Given the description of an element on the screen output the (x, y) to click on. 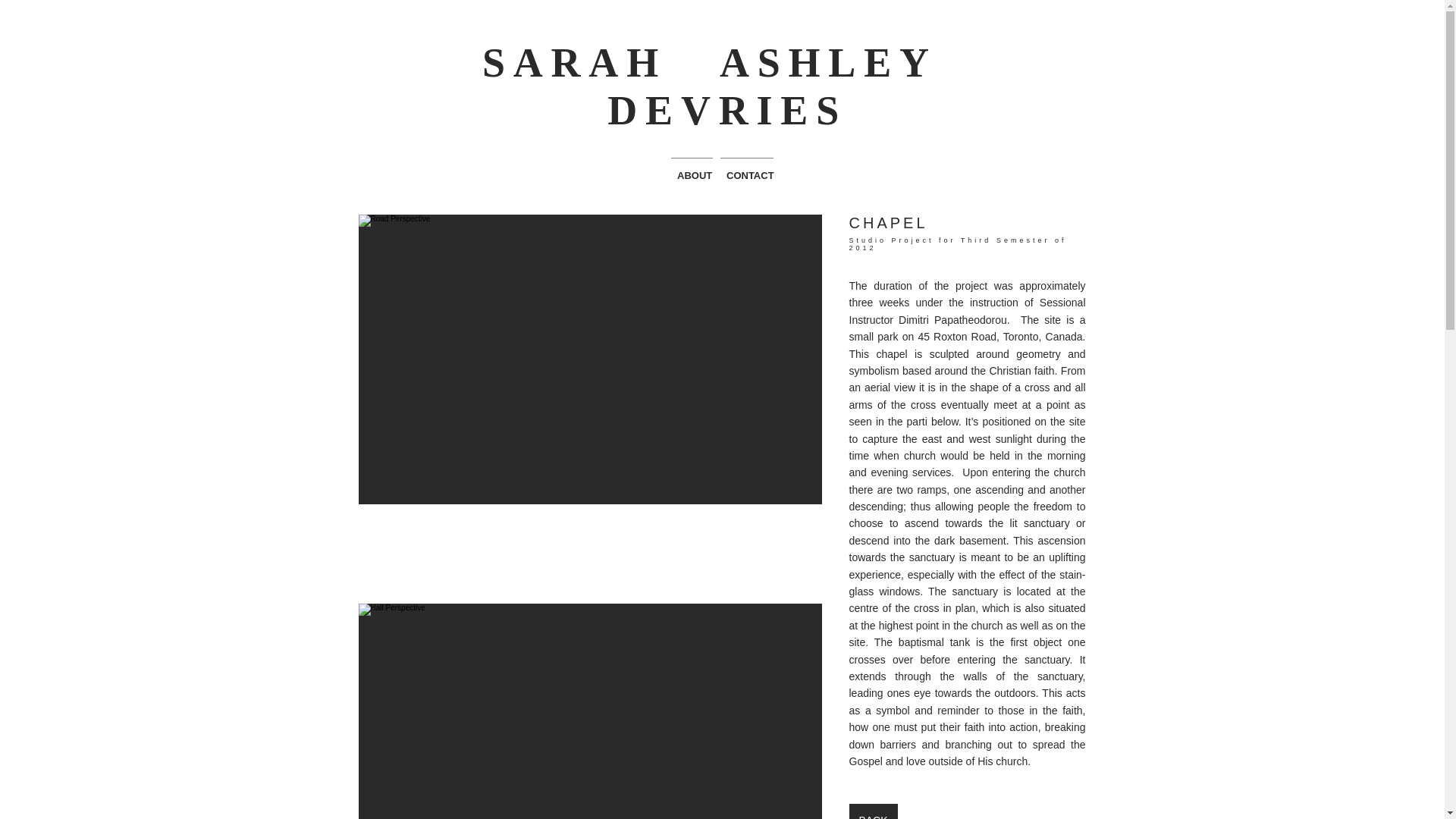
CONTACT (746, 169)
ABOUT (691, 169)
BACK (873, 811)
SARAH   ASHLEY   DEVRIES (717, 85)
